Given the description of an element on the screen output the (x, y) to click on. 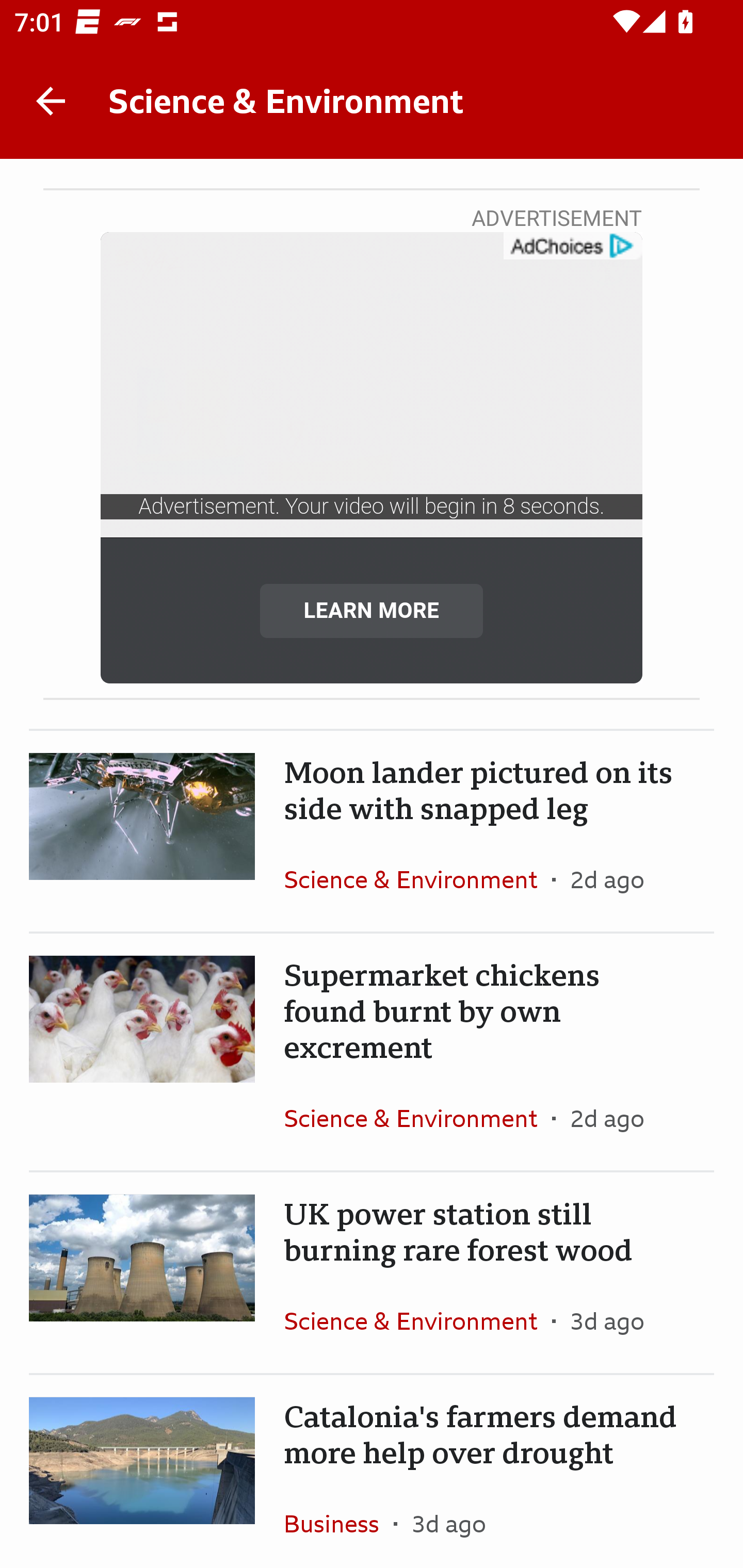
Back (50, 101)
get?name=admarker-full-tl (571, 246)
LEARN MORE (371, 609)
Business In the section Business (338, 1519)
